Given the description of an element on the screen output the (x, y) to click on. 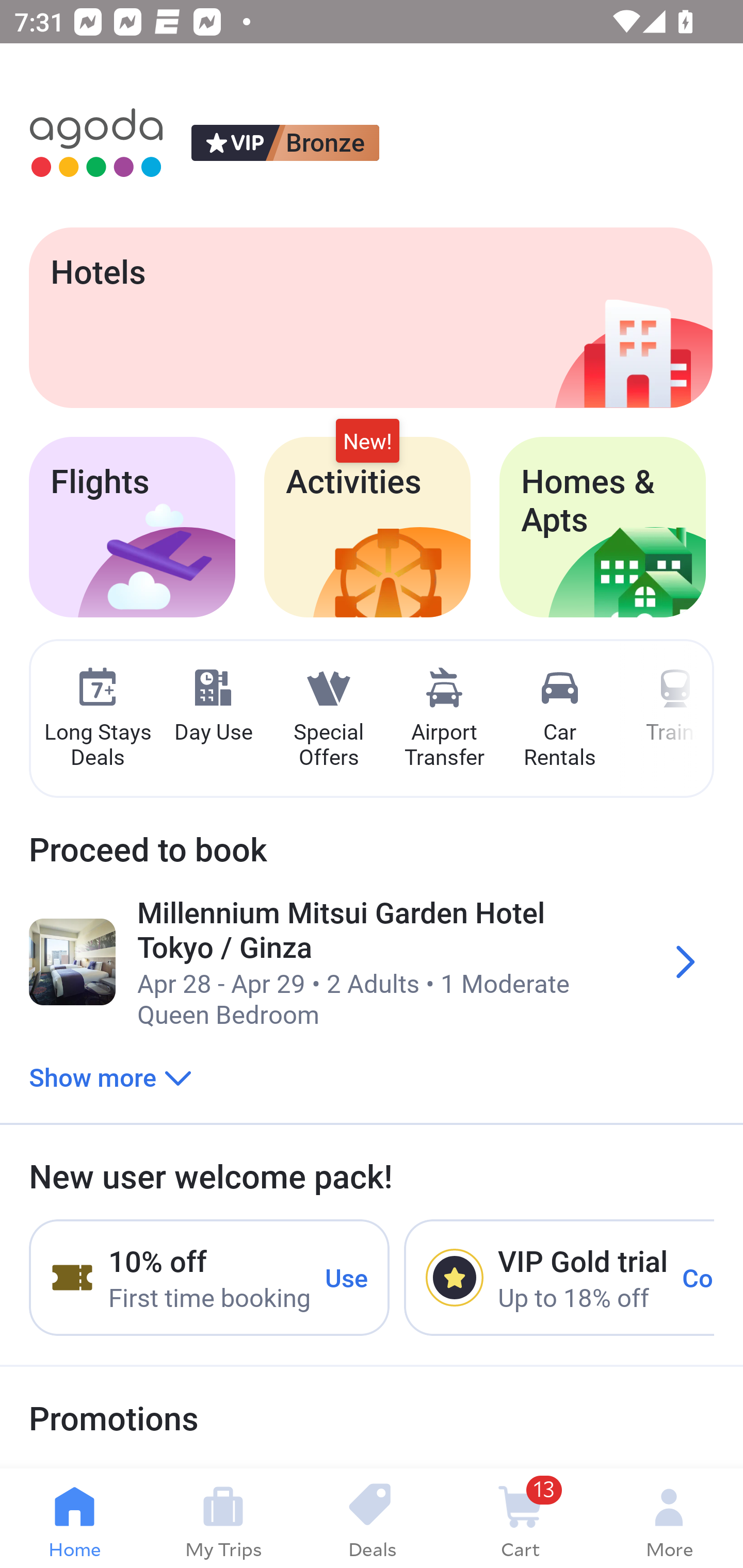
Hotels (370, 317)
New! (367, 441)
Flights (131, 527)
Activities (367, 527)
Homes & Apts (602, 527)
Day Use (213, 706)
Long Stays Deals (97, 718)
Special Offers (328, 718)
Airport Transfer (444, 718)
Car Rentals (559, 718)
Show more (110, 1076)
Use (346, 1277)
Home (74, 1518)
My Trips (222, 1518)
Deals (371, 1518)
13 Cart (519, 1518)
More (668, 1518)
